Given the description of an element on the screen output the (x, y) to click on. 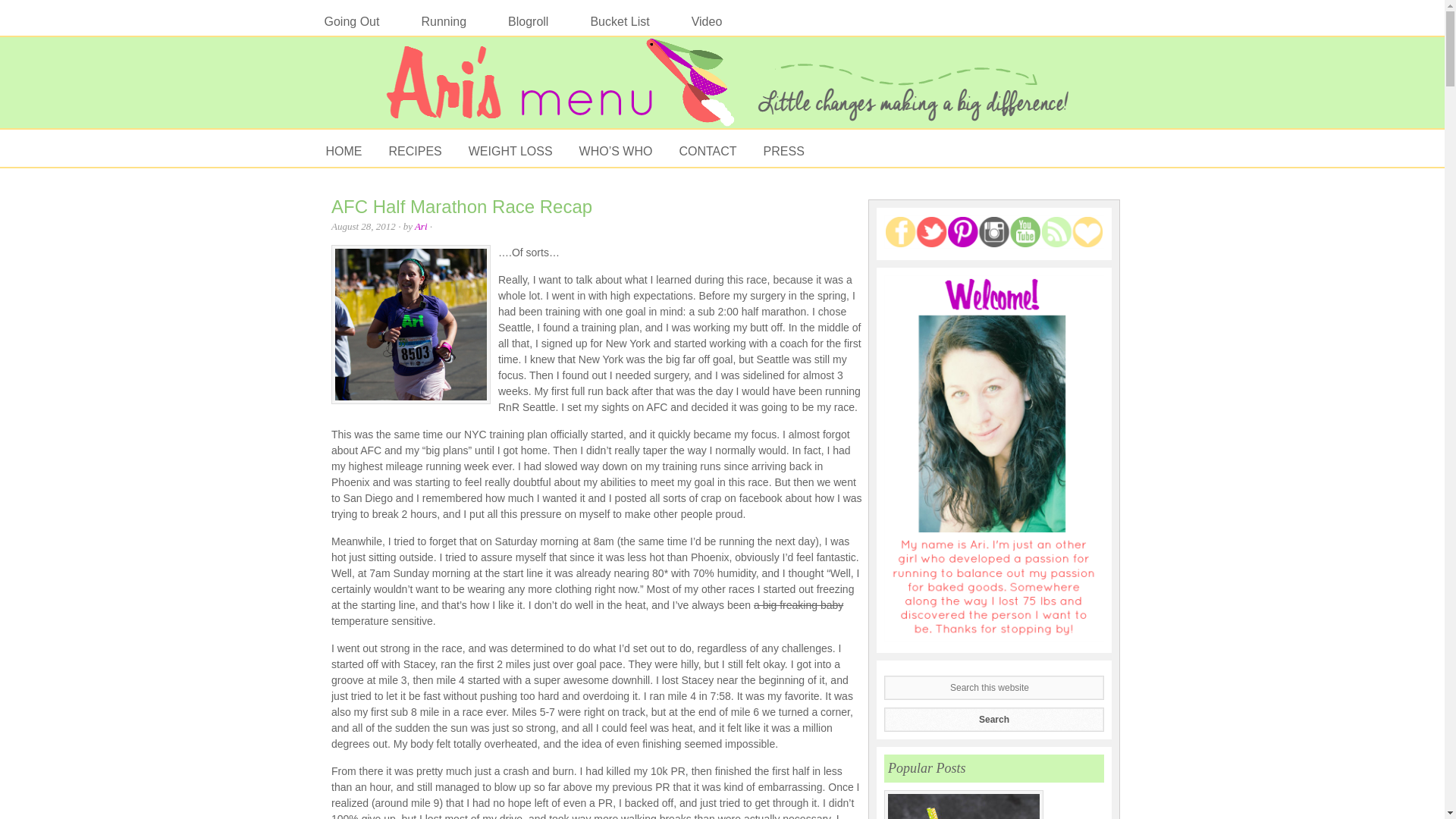
PRESS (780, 150)
Search (993, 719)
Going Out (351, 21)
Running (443, 21)
Ari (421, 225)
Ari's Menu (722, 90)
Video (706, 21)
Bucket List (619, 21)
Search (993, 719)
HOME (340, 150)
AFC Half Marathon Race Recap (461, 206)
Blogroll (527, 21)
RECIPES (411, 150)
CONTACT (703, 150)
WEIGHT LOSS (507, 150)
